Given the description of an element on the screen output the (x, y) to click on. 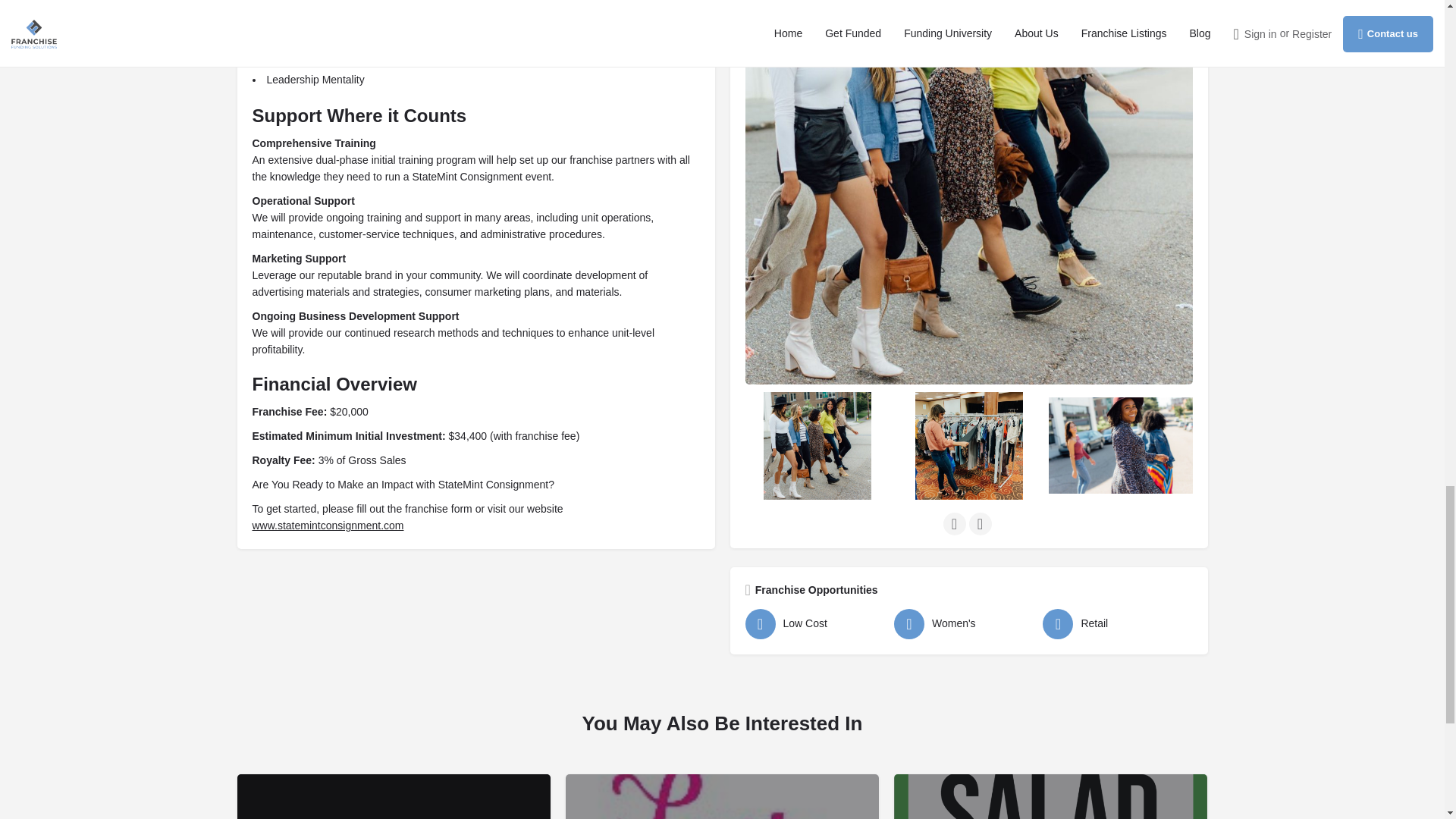
www.statemintconsignment.com (327, 525)
